Given the description of an element on the screen output the (x, y) to click on. 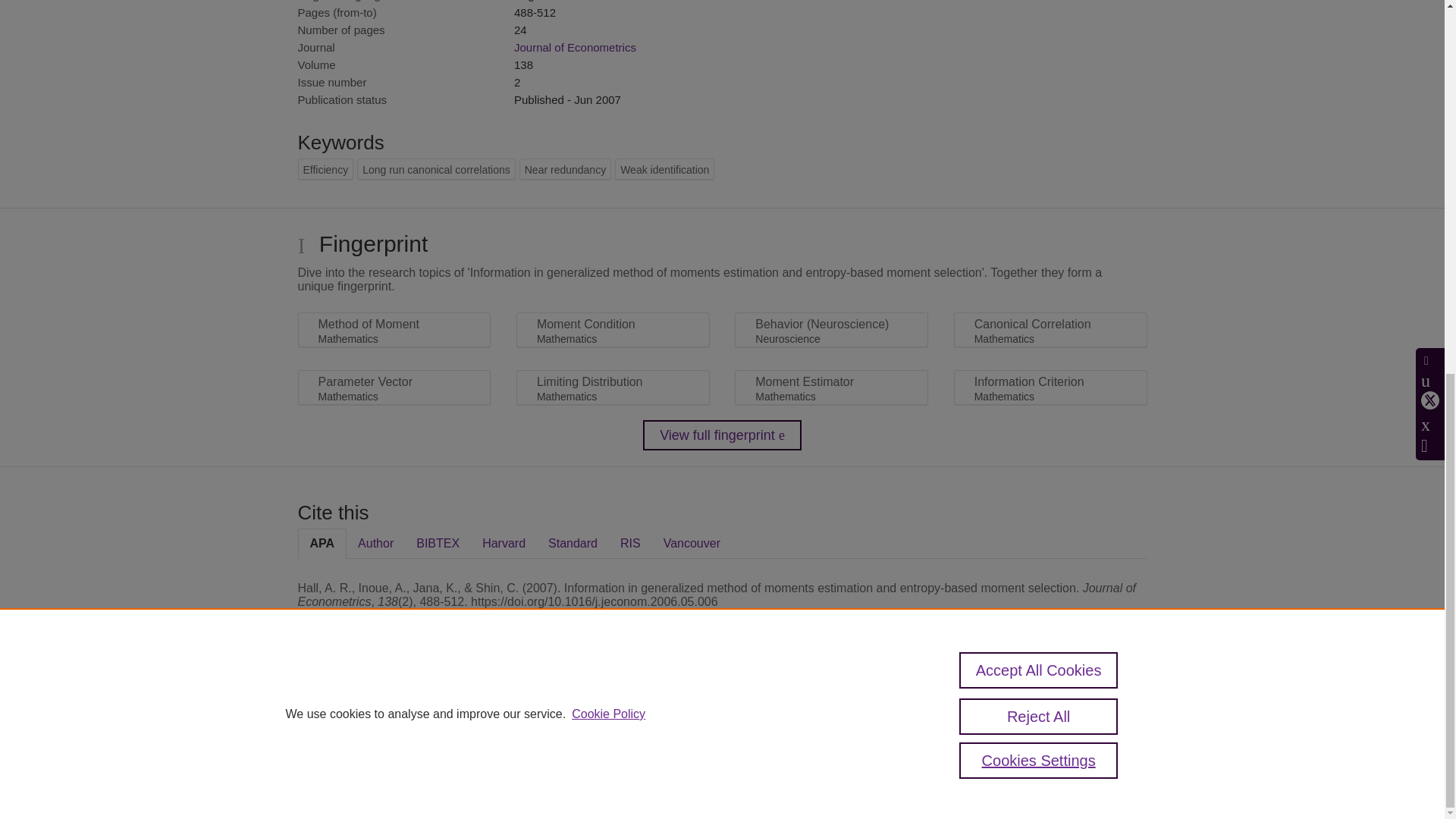
Pure (362, 707)
Scopus (394, 707)
Journal of Econometrics (574, 47)
View full fingerprint (722, 435)
